Given the description of an element on the screen output the (x, y) to click on. 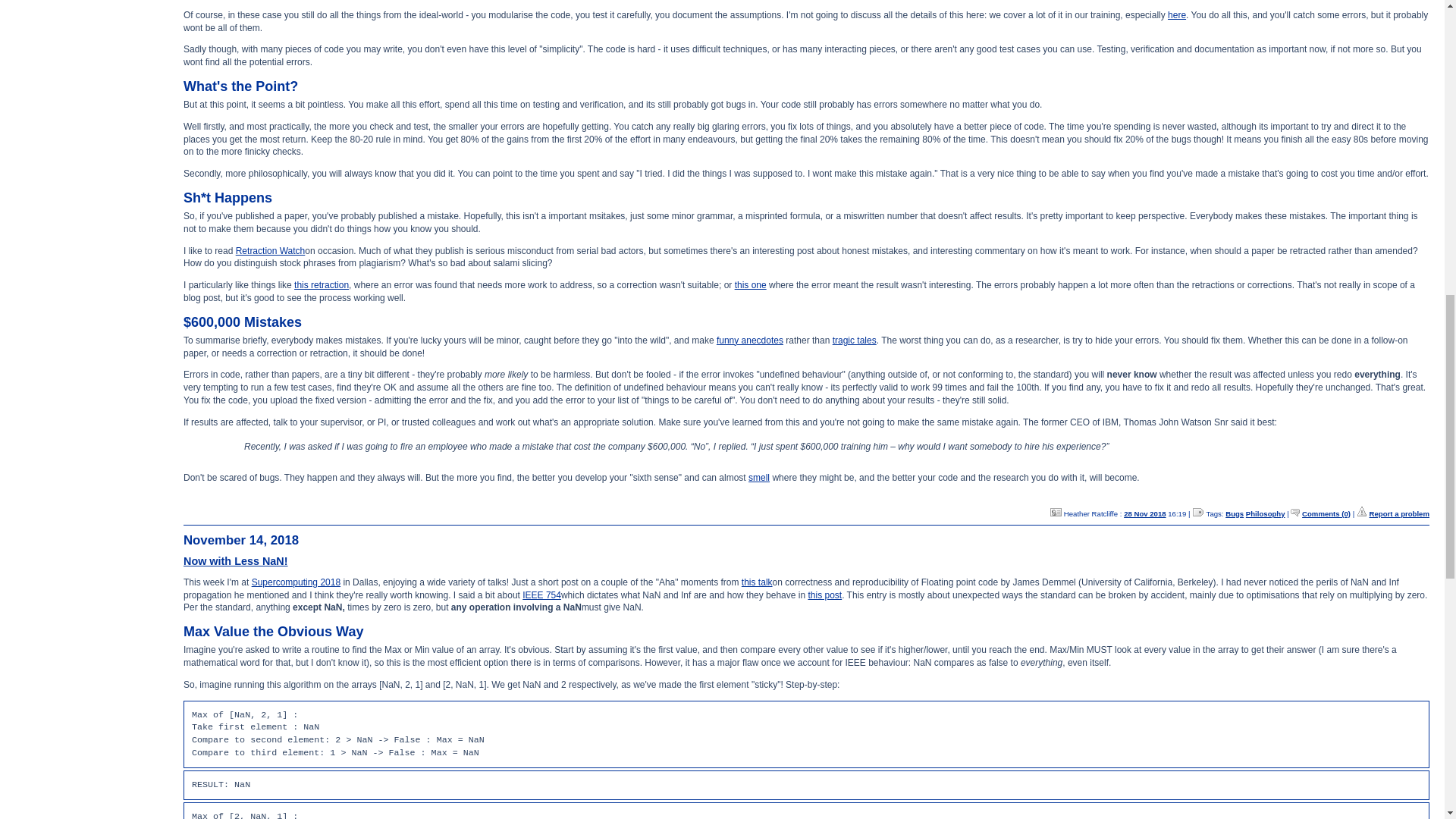
this post (824, 594)
this talk (757, 582)
Now with Less NaN! (235, 561)
tragic tales (854, 339)
Staff: Research Technology Platforms (1055, 511)
Retraction Watch (270, 250)
smell (759, 477)
Supercomputing 2018 (295, 582)
Report a problem (1399, 513)
Bugs (1234, 513)
this one (751, 285)
Philosophy (1265, 513)
this retraction (321, 285)
IEEE 754 (541, 594)
